Given the description of an element on the screen output the (x, y) to click on. 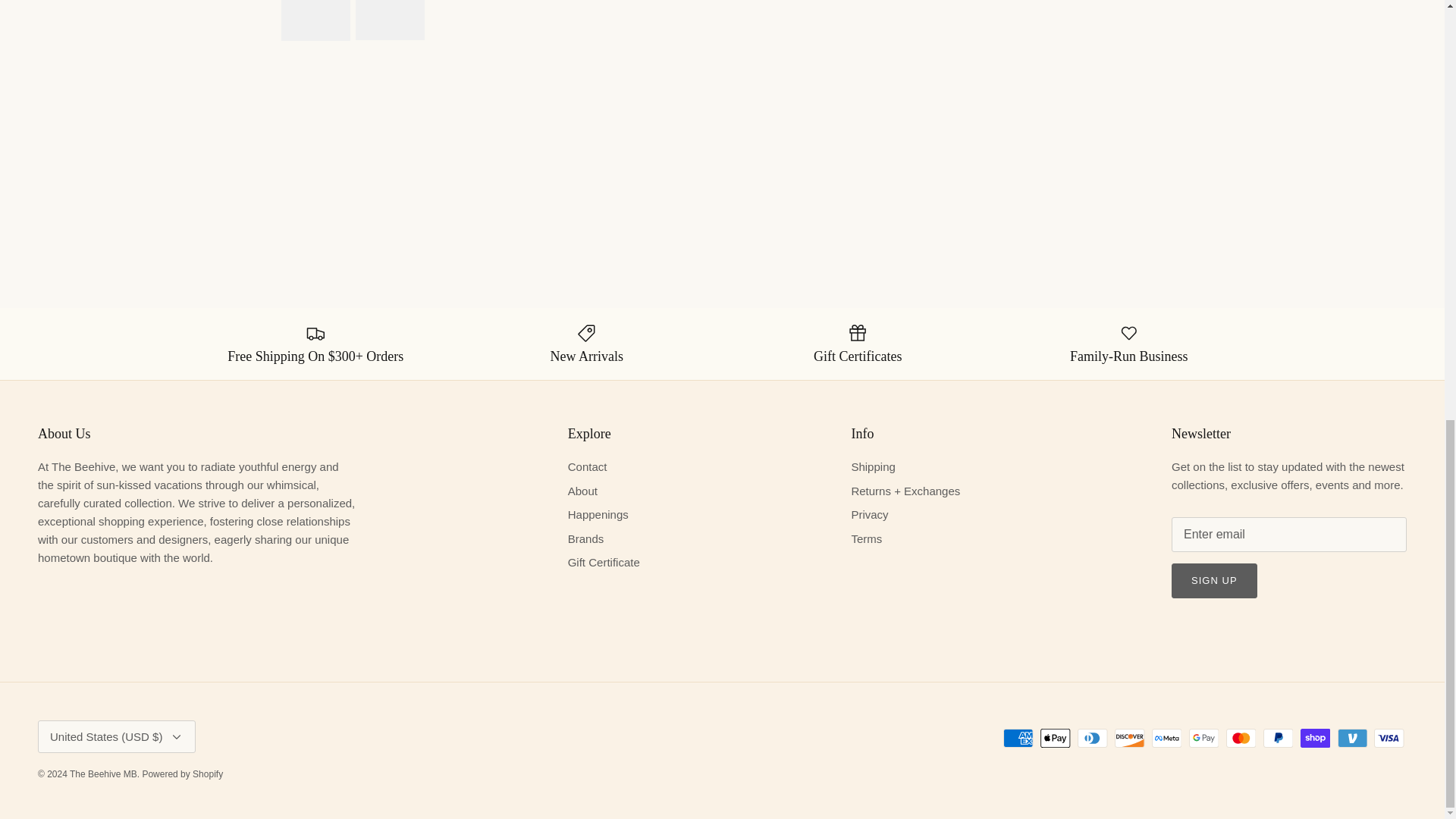
Google Pay (1203, 737)
Visa (1388, 737)
Meta Pay (1166, 737)
Mastercard (1240, 737)
American Express (1018, 737)
PayPal (1277, 737)
Venmo (1352, 737)
Diners Club (1092, 737)
Apple Pay (1055, 737)
Discover (1129, 737)
